Given the description of an element on the screen output the (x, y) to click on. 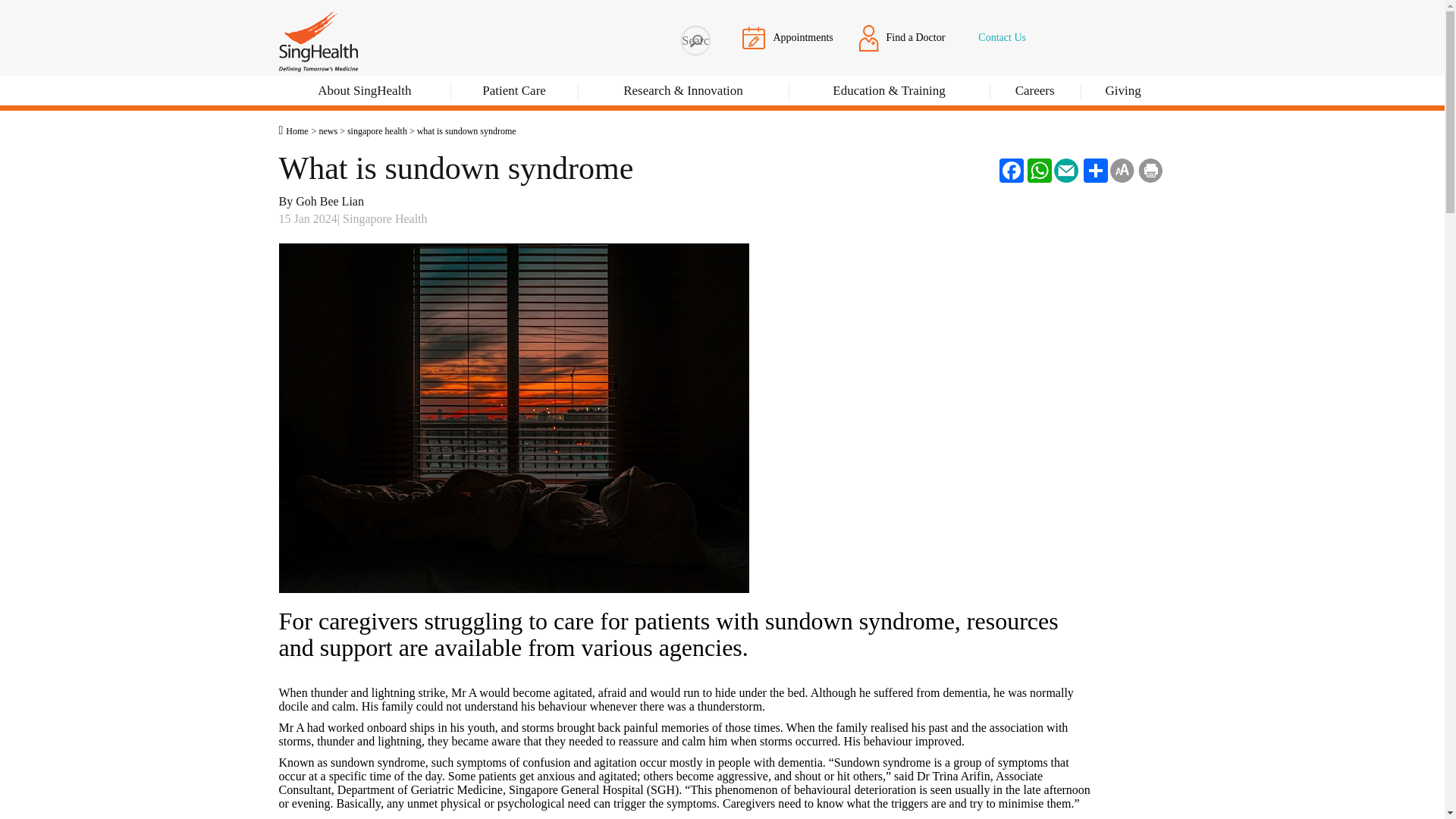
Appointments (787, 37)
Print (1149, 170)
Appointments (753, 37)
Facebook (1009, 170)
Share this Page (1093, 170)
Contact Us (997, 37)
WhatsApp (1037, 170)
How can we help you? (695, 40)
About SingHealth (365, 93)
Email Us (1066, 170)
Find a Doctor (902, 37)
